Given the description of an element on the screen output the (x, y) to click on. 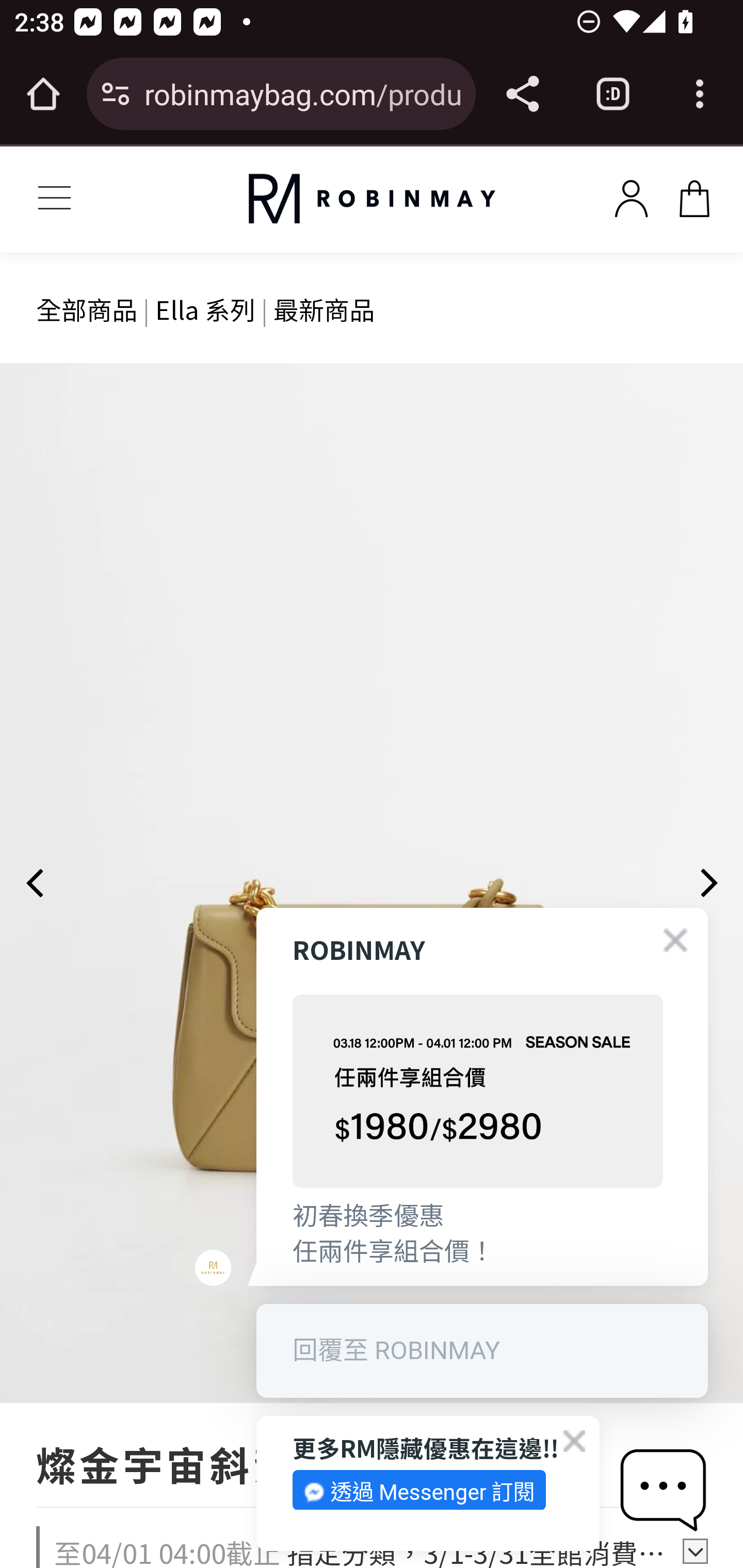
Open the home page (43, 93)
Connection is secure (115, 93)
Share (522, 93)
Switch or close tabs (612, 93)
Customize and control Google Chrome (699, 93)
original (371, 199)
x100 (631, 195)
x100 (694, 195)
全部商品 (86, 308)
Ella 系列 (205, 308)
最新商品 (323, 308)
透過 Messenger 訂閱 (419, 1489)
